Given the description of an element on the screen output the (x, y) to click on. 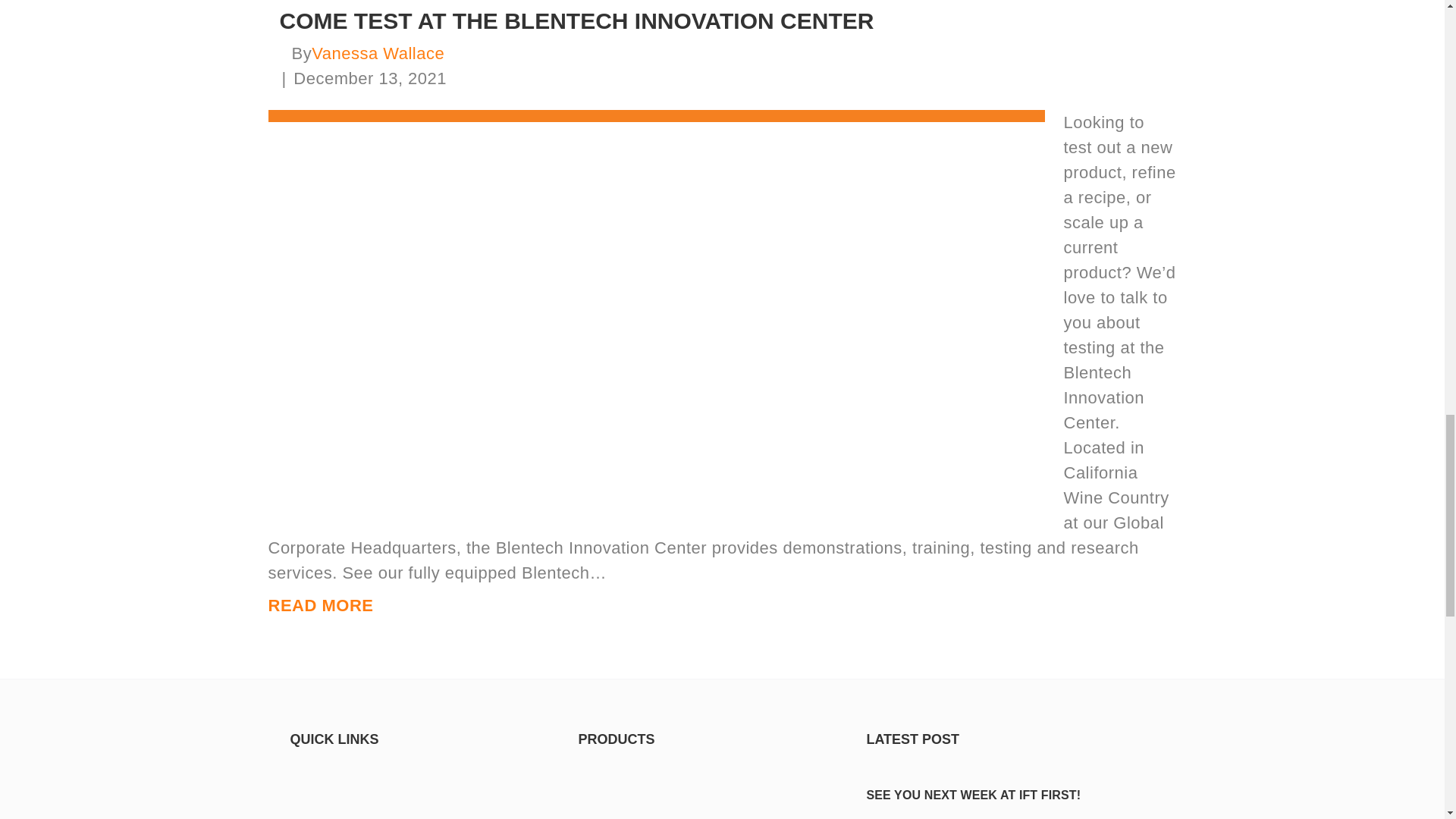
See You Next Week at IFT First! (973, 794)
Come test at the Blentech Innovation Center (656, 311)
Come test at the Blentech Innovation Center (576, 20)
See You Next Week at IFT First! (1010, 763)
